Given the description of an element on the screen output the (x, y) to click on. 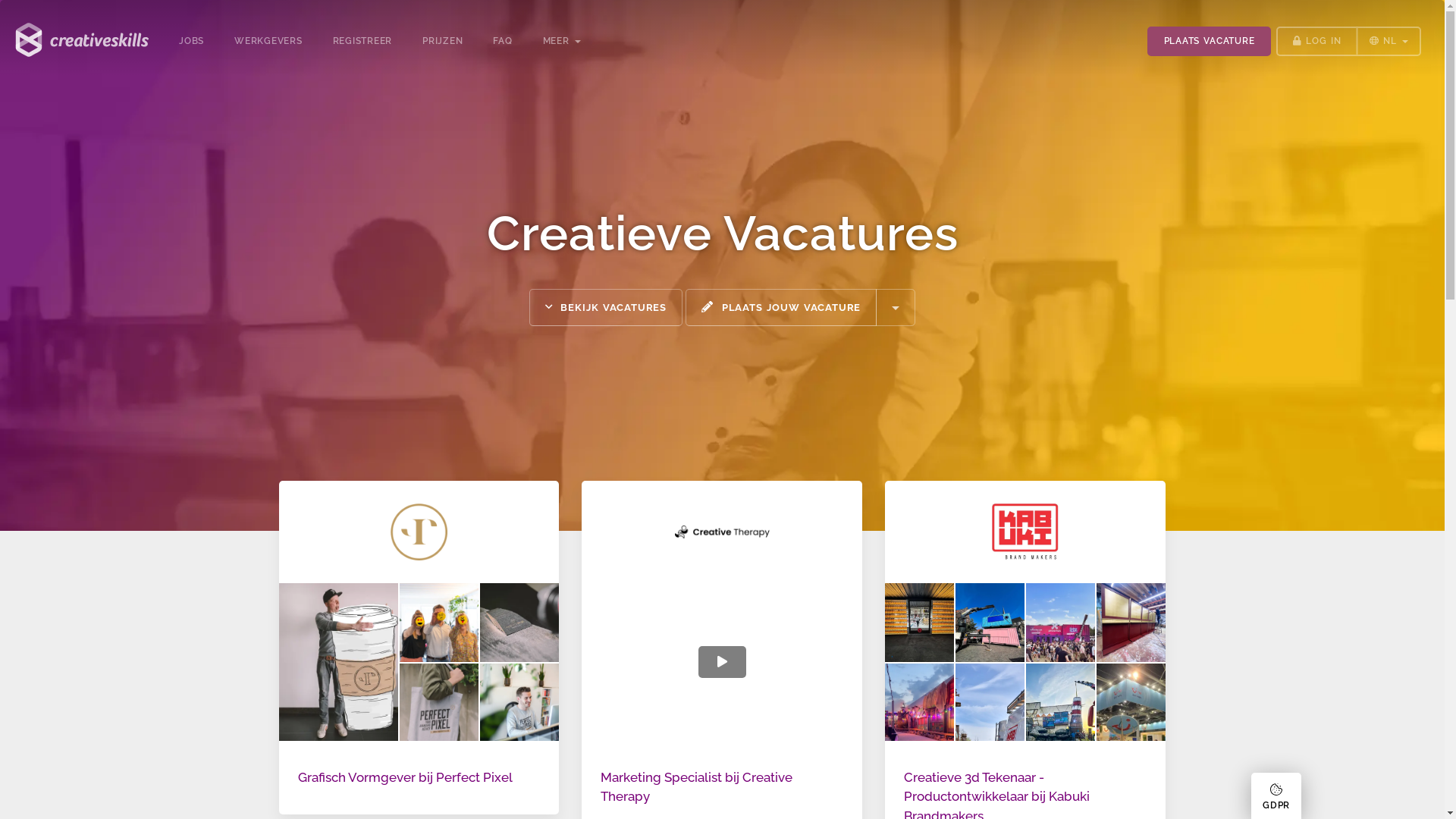
Grafisch Vormgever bij Perfect Pixel Element type: text (404, 776)
Vacatures bij Perfect Pixel Element type: hover (419, 661)
Vacatures bij Kabuki Brandmakers Element type: hover (1024, 661)
  PLAATS JOUW VACATURE Element type: text (780, 307)
Vacatures bij Perfect Pixel Element type: hover (419, 531)
Vacatures bij Creative Therapy Element type: hover (721, 531)
FAQ Element type: text (502, 38)
PLAATS VACATURE Element type: text (1208, 41)
  BEKIJK VACATURES Element type: text (605, 307)
NL Element type: text (1388, 41)
WERKGEVERS Element type: text (268, 38)
REGISTREER Element type: text (361, 38)
JOBS Element type: text (191, 38)
Vacatures bij Creative Therapy Element type: hover (721, 661)
MEER Element type: text (561, 38)
Vacatures bij Kabuki Brandmakers Element type: hover (1024, 531)
PRIJZEN Element type: text (442, 38)
Marketing Specialist bij Creative Therapy Element type: text (696, 786)
LOG IN Element type: text (1316, 41)
